Given the description of an element on the screen output the (x, y) to click on. 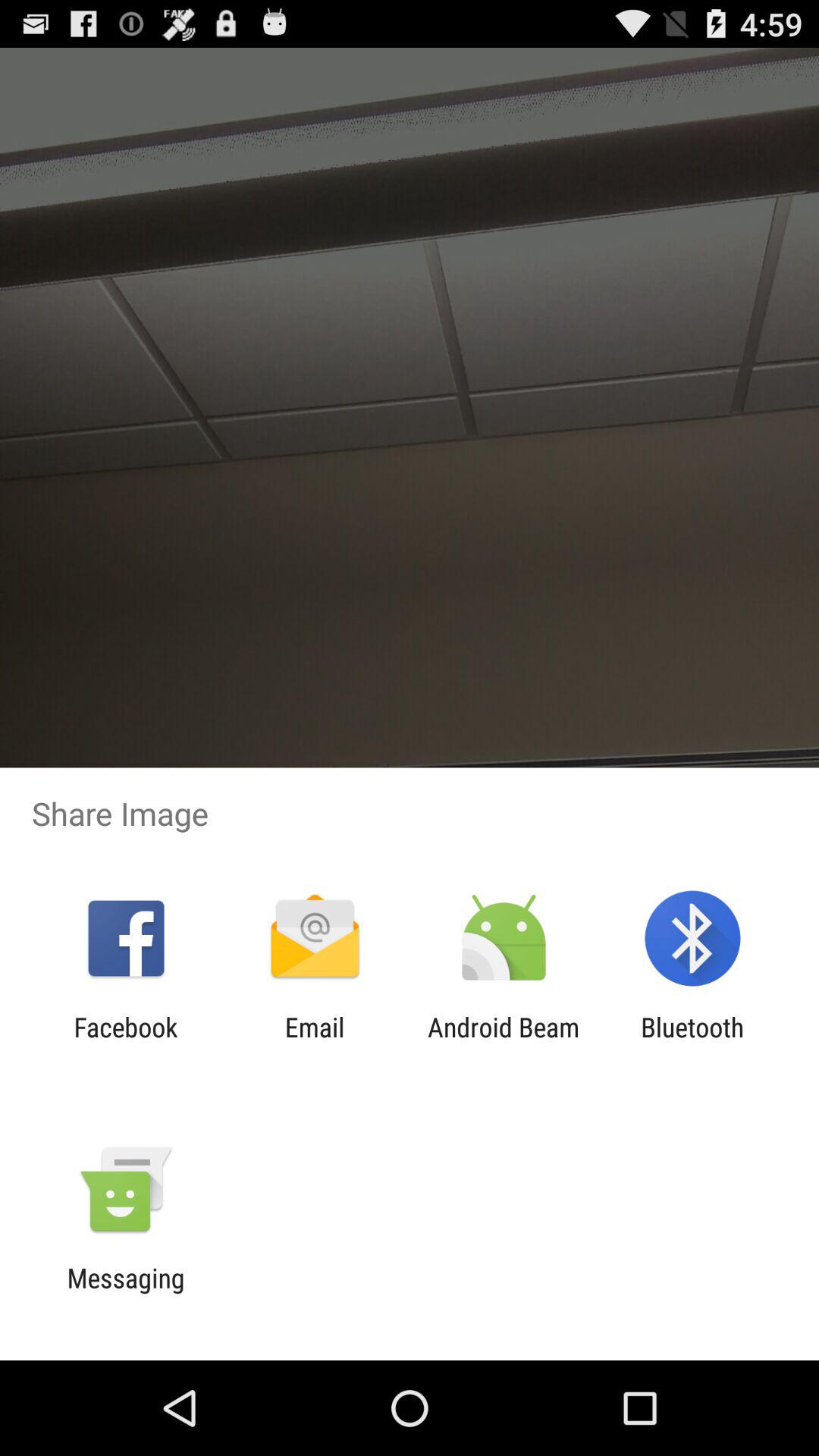
select the icon at the bottom right corner (691, 1042)
